Given the description of an element on the screen output the (x, y) to click on. 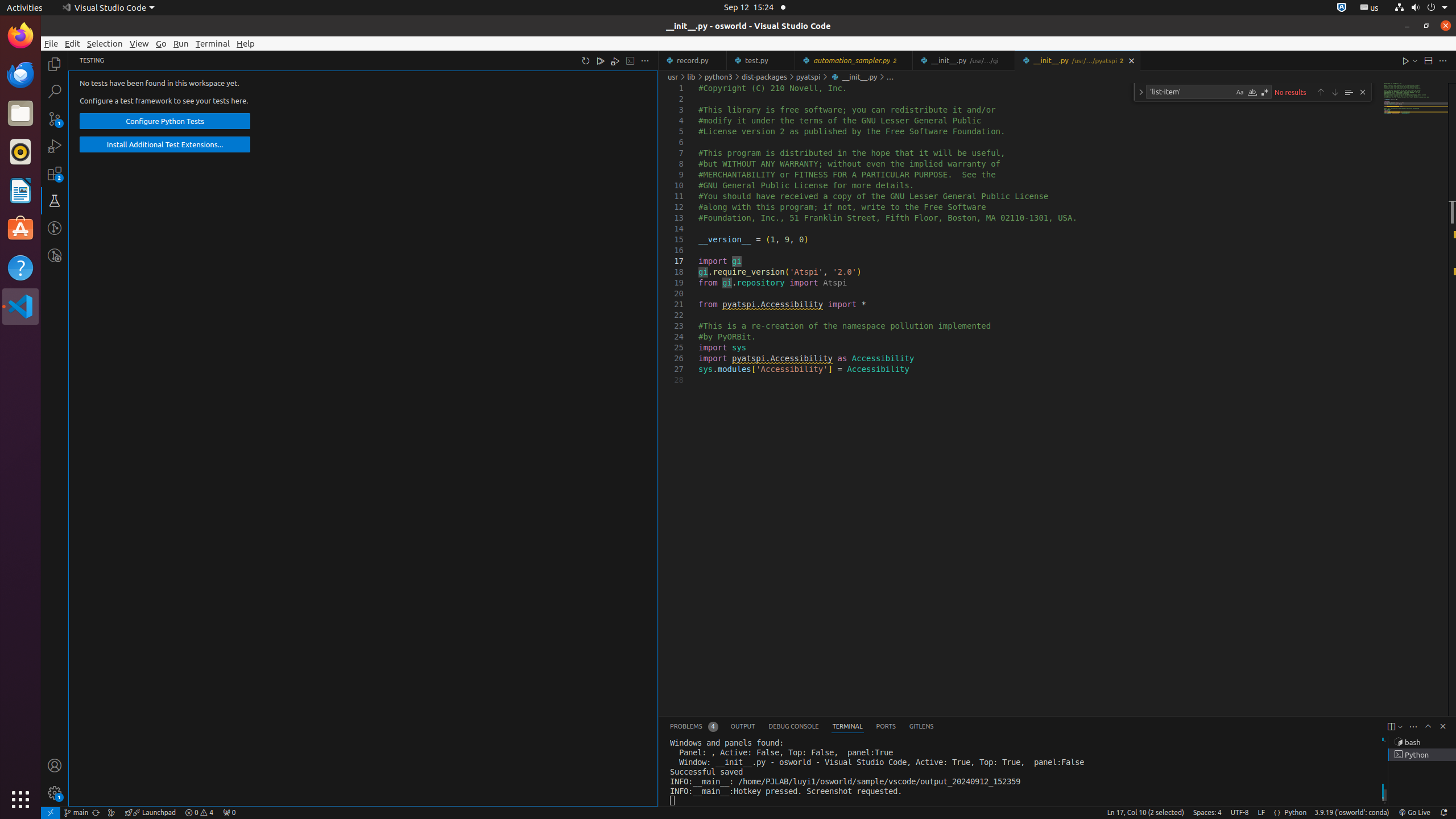
Run Tests Element type: push-button (600, 60)
Configure Python Tests Element type: push-button (164, 121)
Search (Ctrl+Shift+F) Element type: page-tab (54, 91)
Ln 17, Col 10 (2 selected) Element type: push-button (1144, 812)
Split Editor Down Element type: push-button (1427, 60)
